Given the description of an element on the screen output the (x, y) to click on. 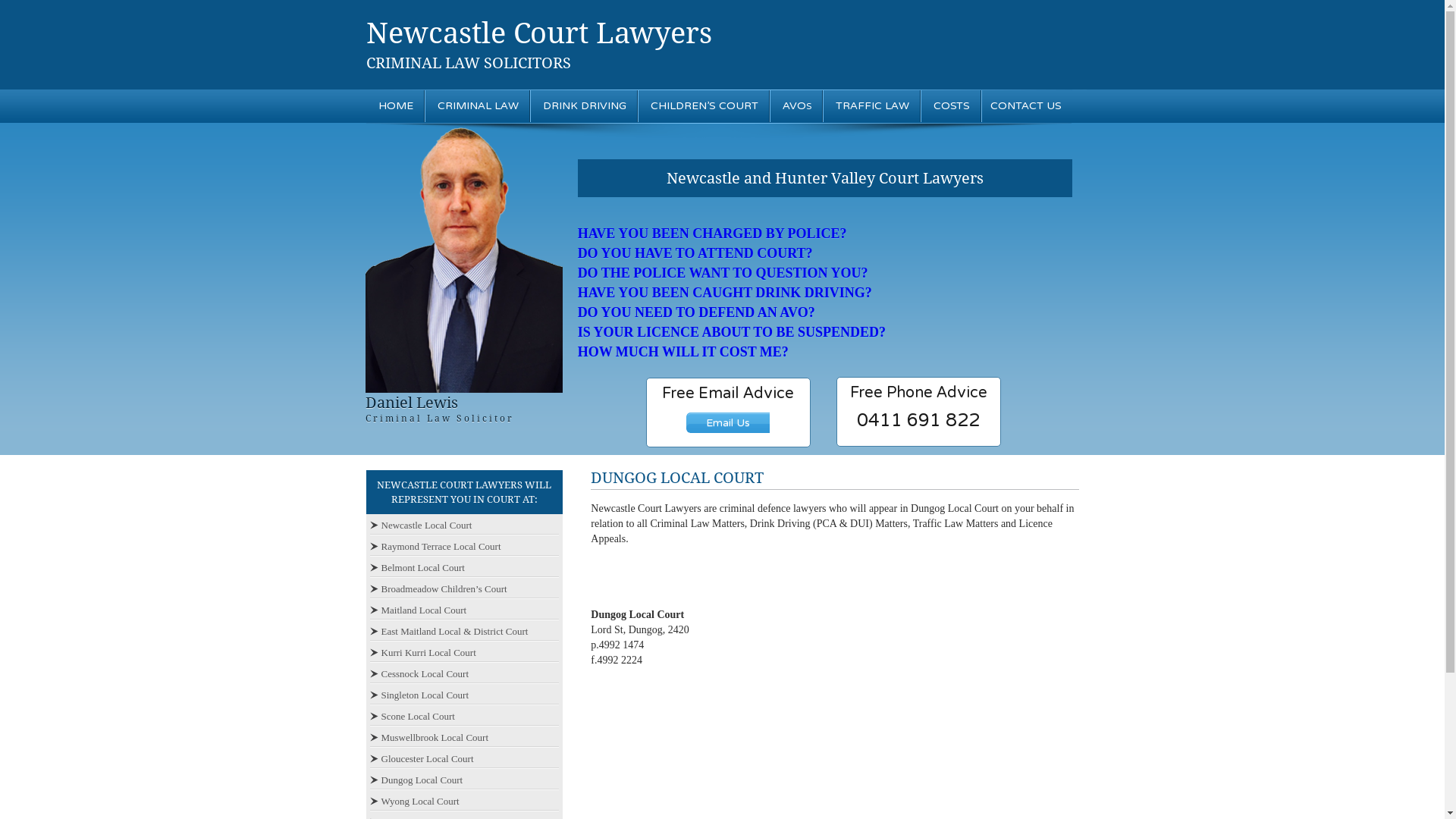
Raymond Terrace Local Court Element type: text (435, 546)
Kurri Kurri Local Court Element type: text (423, 652)
CRIMINAL LAW Element type: text (478, 106)
Dungog Local Court Element type: text (416, 779)
0411 691 822 Element type: text (917, 420)
TRAFFIC LAW Element type: text (871, 106)
AVOS Element type: text (796, 106)
HAVE YOU BEEN CHARGED BY POLICE? Element type: text (712, 233)
Wyong Local Court Element type: text (414, 800)
DO YOU HAVE TO ATTEND COURT? Element type: text (694, 252)
Scone Local Court Element type: text (412, 715)
Maitland Local Court Element type: text (418, 609)
HOW MUCH WILL IT COST ME? Element type: text (682, 351)
HAVE YOU BEEN CAUGHT DRINK DRIVING? Element type: text (724, 292)
Gloucester Local Court Element type: text (421, 758)
East Maitland Local & District Court Element type: text (449, 631)
Newcastle Court Lawyers Element type: text (538, 33)
COSTS Element type: text (951, 106)
DRINK DRIVING Element type: text (583, 106)
CONTACT US Element type: text (1025, 106)
Newcastle Local Court Element type: text (421, 524)
Email Us Element type: text (727, 422)
DO THE POLICE WANT TO QUESTION YOU? Element type: text (722, 272)
Muswellbrook Local Court Element type: text (429, 737)
IS YOUR LICENCE ABOUT TO BE SUSPENDED? Element type: text (731, 331)
Singleton Local Court Element type: text (419, 694)
Belmont Local Court Element type: text (417, 567)
Cessnock Local Court Element type: text (419, 673)
HOME Element type: text (395, 106)
DO YOU NEED TO DEFEND AN AVO? Element type: text (696, 312)
